Given the description of an element on the screen output the (x, y) to click on. 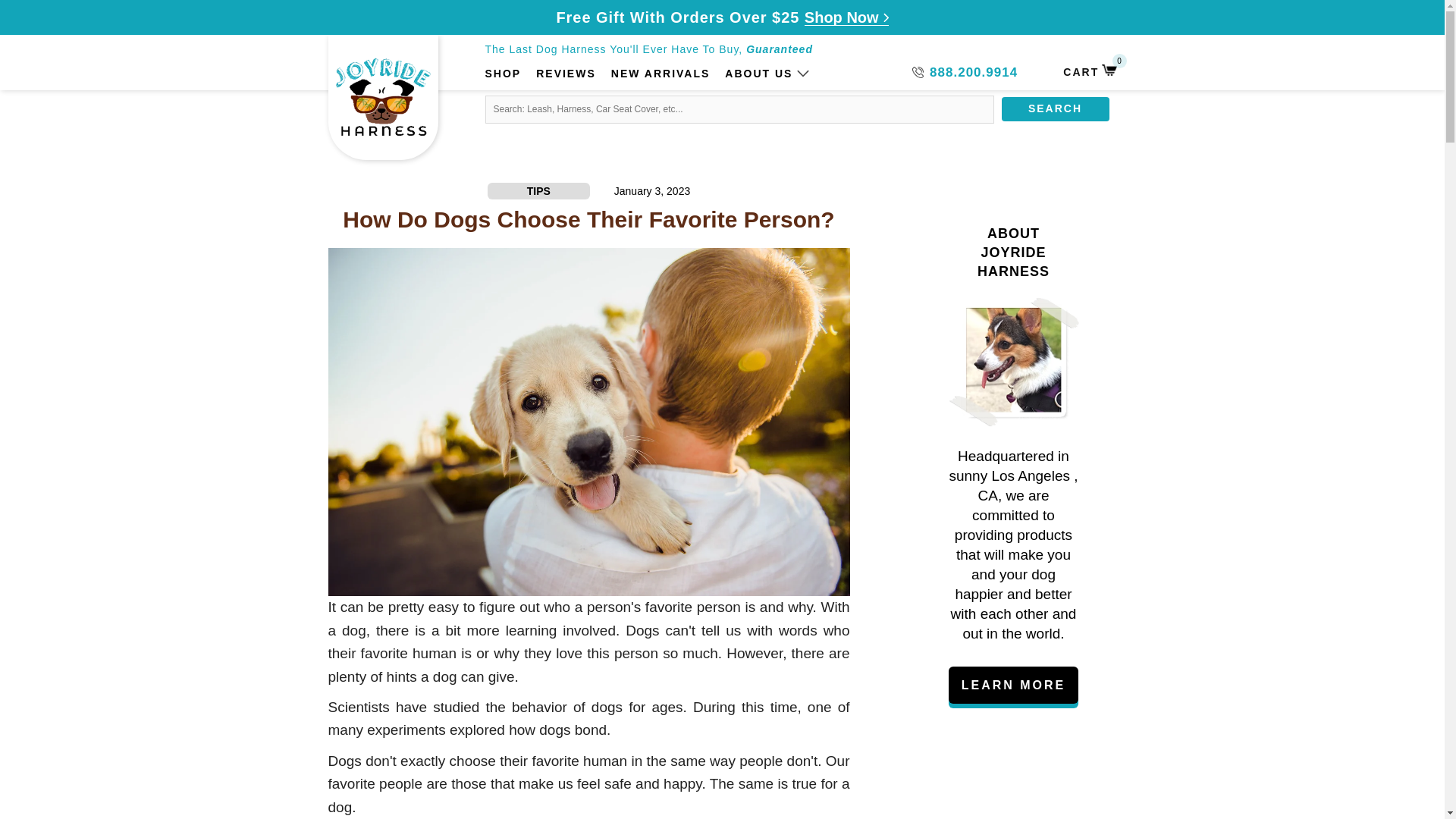
SHOP (502, 73)
Skip to content (72, 27)
SEARCH (1054, 109)
REVIEWS (1089, 71)
ABOUT US (565, 73)
888.200.9914 (758, 73)
Shop Now (964, 72)
NEW ARRIVALS (846, 17)
